Given the description of an element on the screen output the (x, y) to click on. 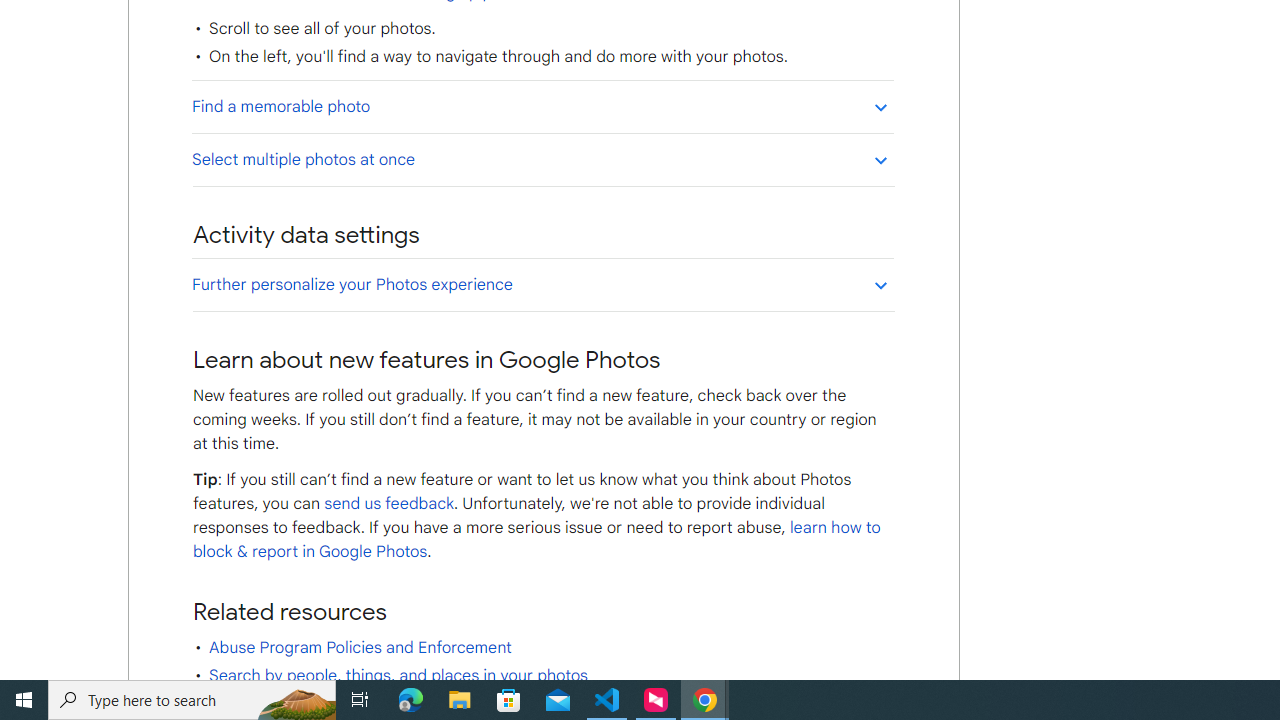
Abuse Program Policies and Enforcement (360, 647)
send us feedback (388, 503)
Search by people, things, and places in your photos (397, 676)
learn how to block & report in Google Photos (536, 539)
Further personalize your Photos experience (542, 284)
Find a memorable photo (542, 106)
Select multiple photos at once (542, 159)
